Given the description of an element on the screen output the (x, y) to click on. 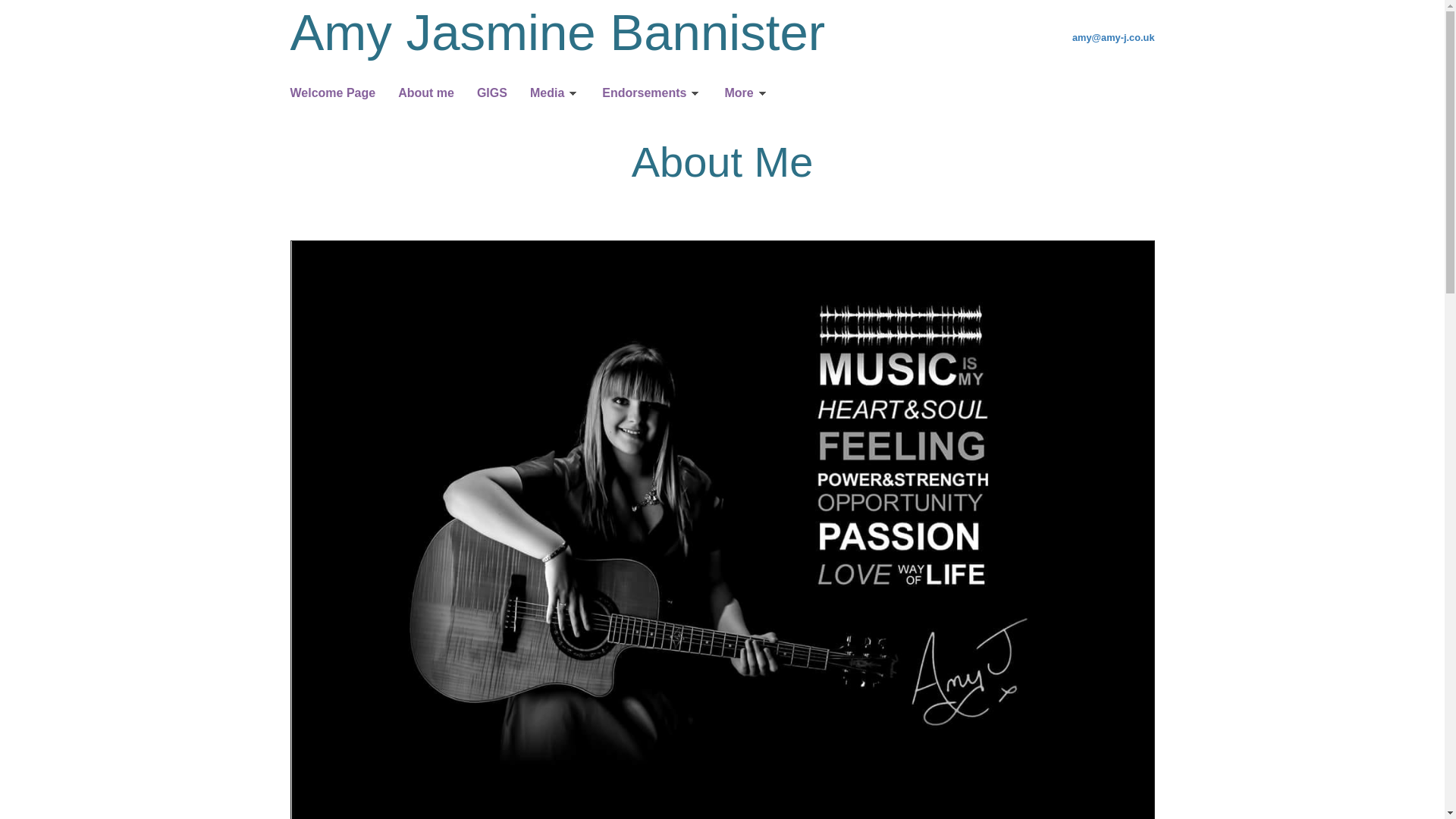
Welcome Page (332, 93)
Amy Jasmine Bannister  (557, 32)
About me (425, 93)
GIGS (491, 93)
More (745, 93)
GIGS (491, 93)
Media (554, 93)
Endorsements (651, 93)
About me (425, 93)
Welcome Page (332, 93)
Media (554, 93)
Endorsements (651, 93)
